Given the description of an element on the screen output the (x, y) to click on. 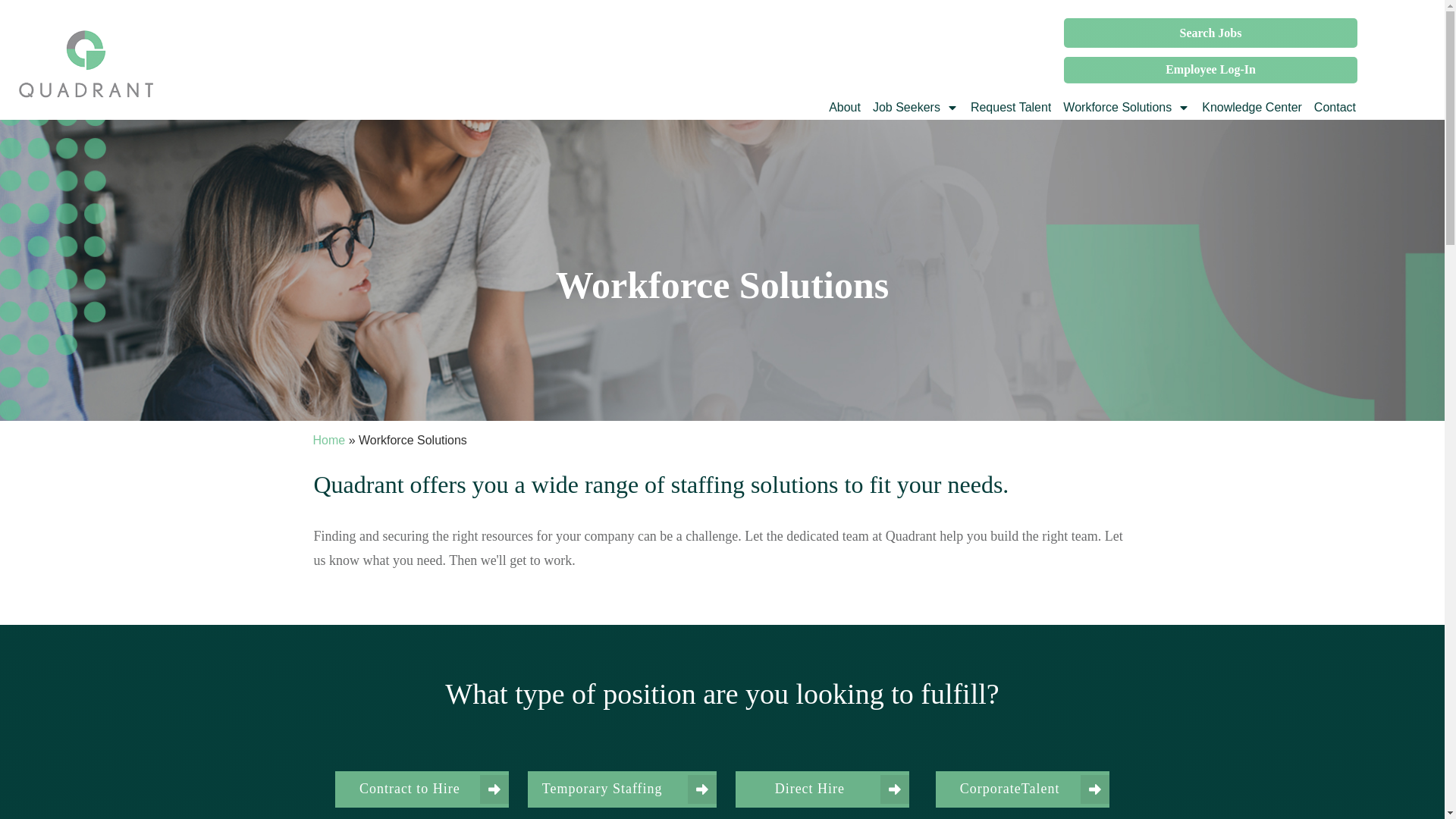
Request Talent (1011, 107)
Contract to Hire (421, 789)
Job Seekers (915, 107)
Workforce Solutions (1125, 107)
Knowledge Center (1251, 107)
Contact (1334, 107)
Employee Log-In (1210, 69)
Temporary Staffing (621, 789)
CorporateTalent (1022, 789)
Home (329, 440)
